Given the description of an element on the screen output the (x, y) to click on. 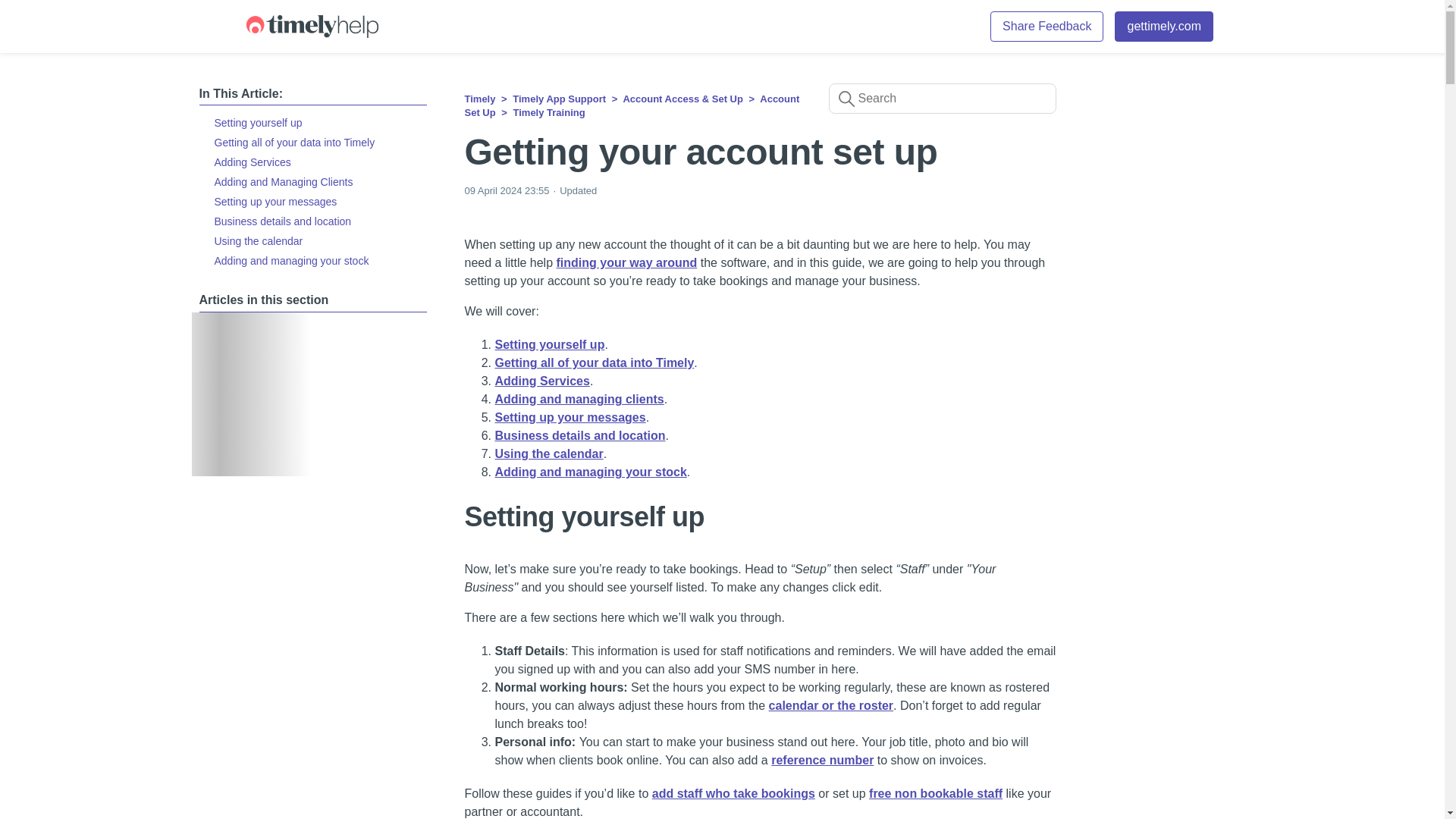
Timely App Support (558, 98)
Adding and Managing Clients (311, 181)
gettimely.com (1163, 26)
Timely (479, 98)
Setting yourself up (311, 122)
Adding and managing your stock (311, 260)
Business details and location (311, 220)
2024-04-09T23:55:51Z (506, 190)
Getting your account set up (759, 151)
Using the calendar (311, 240)
